Given the description of an element on the screen output the (x, y) to click on. 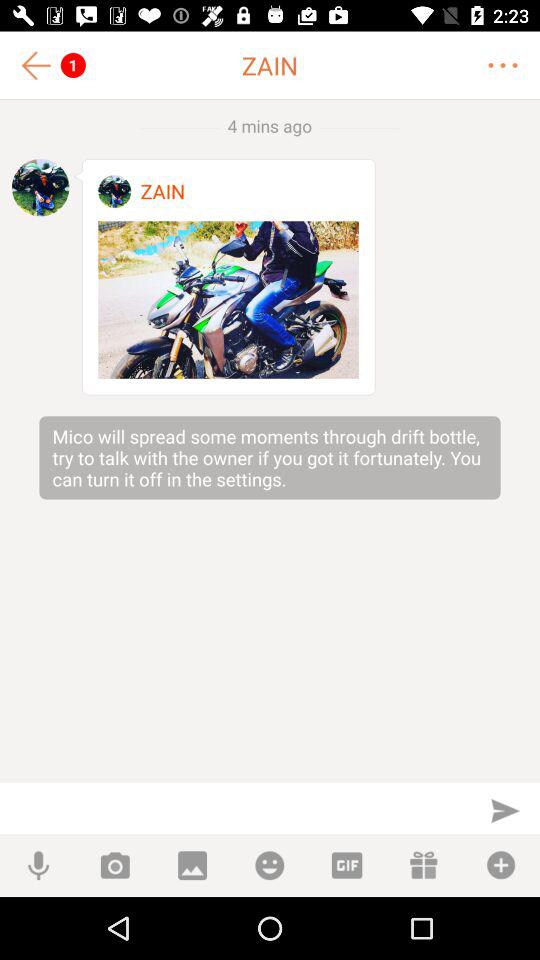
see profile picture (40, 187)
